Given the description of an element on the screen output the (x, y) to click on. 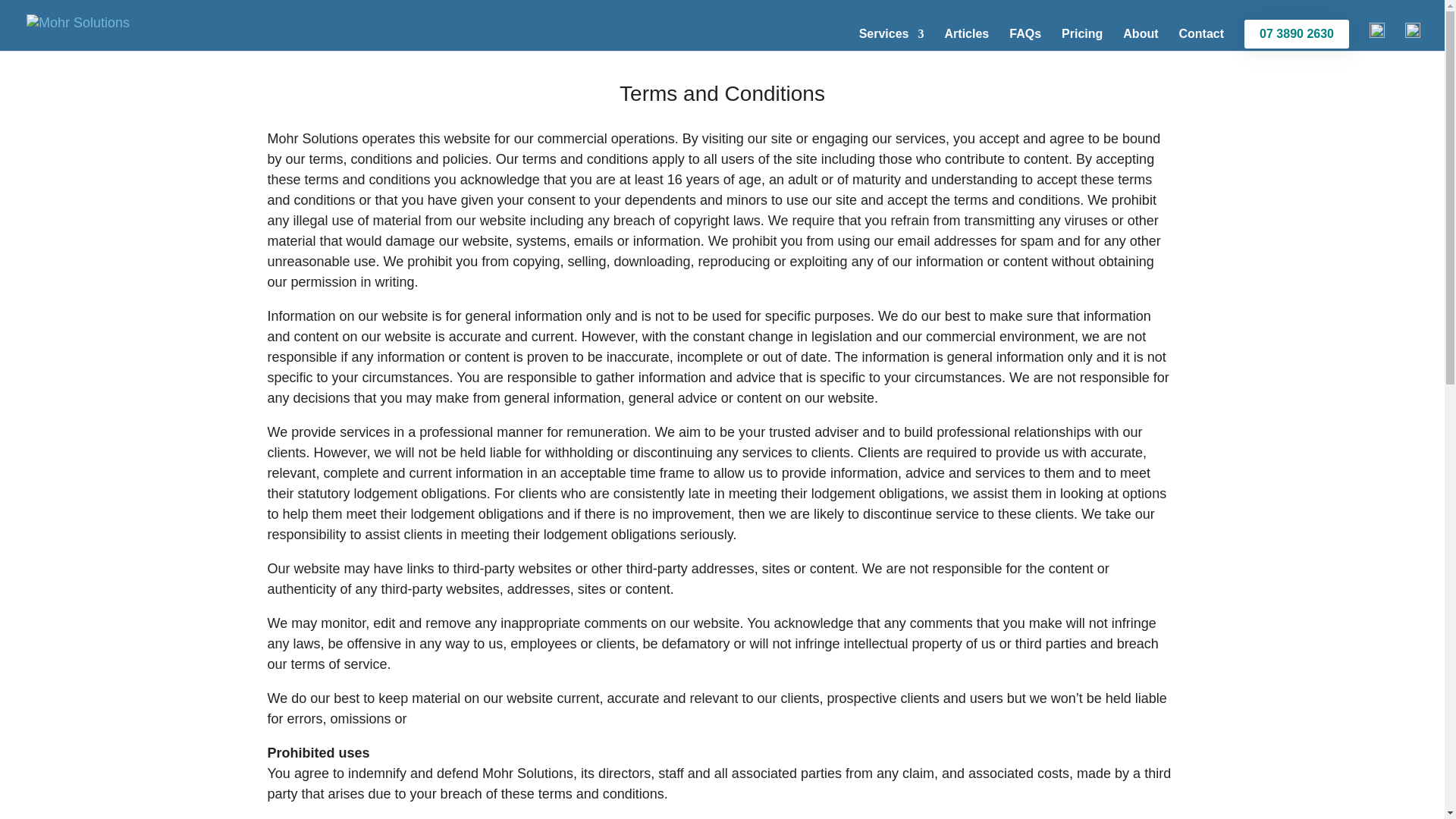
About (1139, 39)
Contact (1201, 39)
FAQs (1025, 39)
Pricing (1081, 39)
Services (891, 39)
07 3890 2630 (1296, 33)
Articles (967, 39)
